Given the description of an element on the screen output the (x, y) to click on. 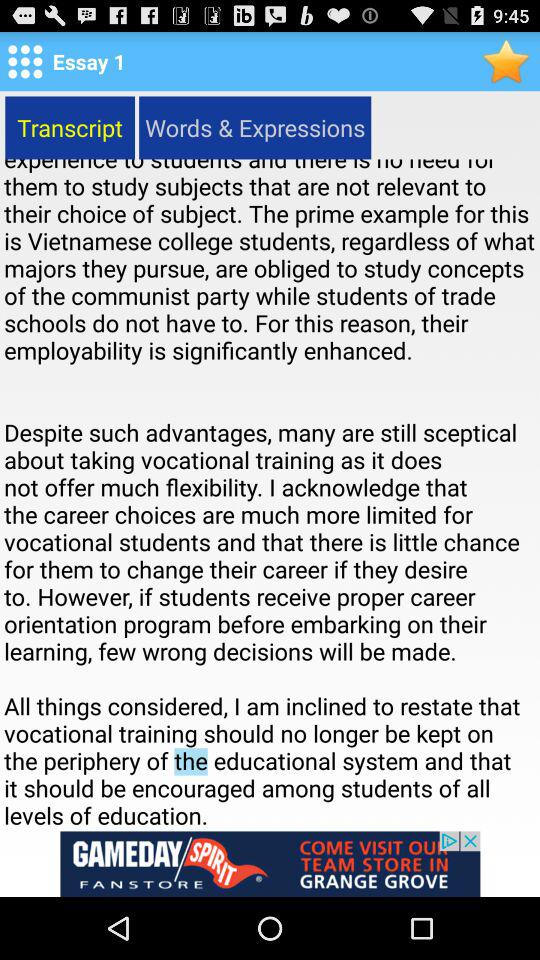
add to favorites (506, 60)
